Given the description of an element on the screen output the (x, y) to click on. 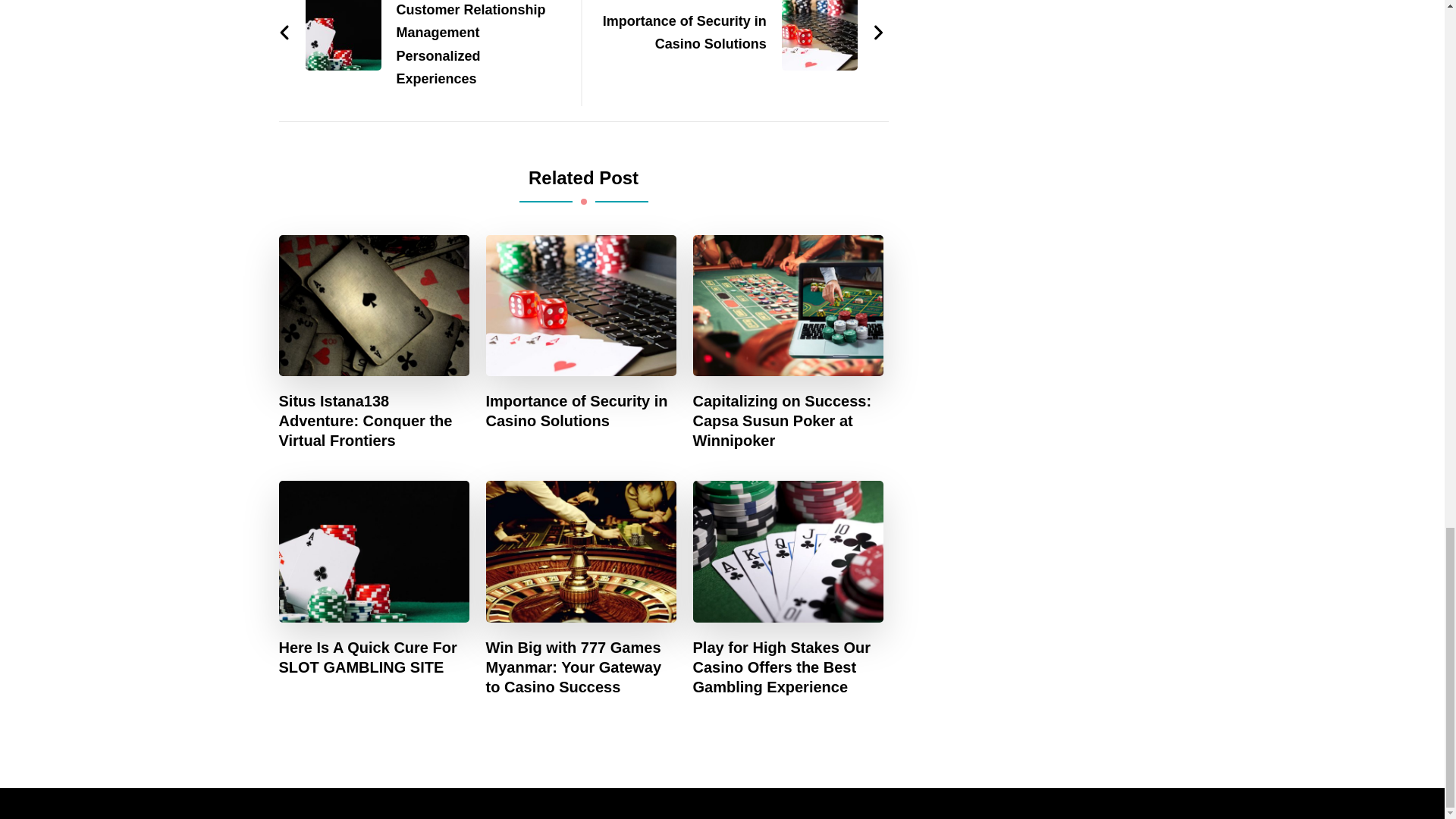
Situs Istana138 Adventure: Conquer the Virtual Frontiers (374, 420)
Importance of Security in Casino Solutions (740, 32)
